Given the description of an element on the screen output the (x, y) to click on. 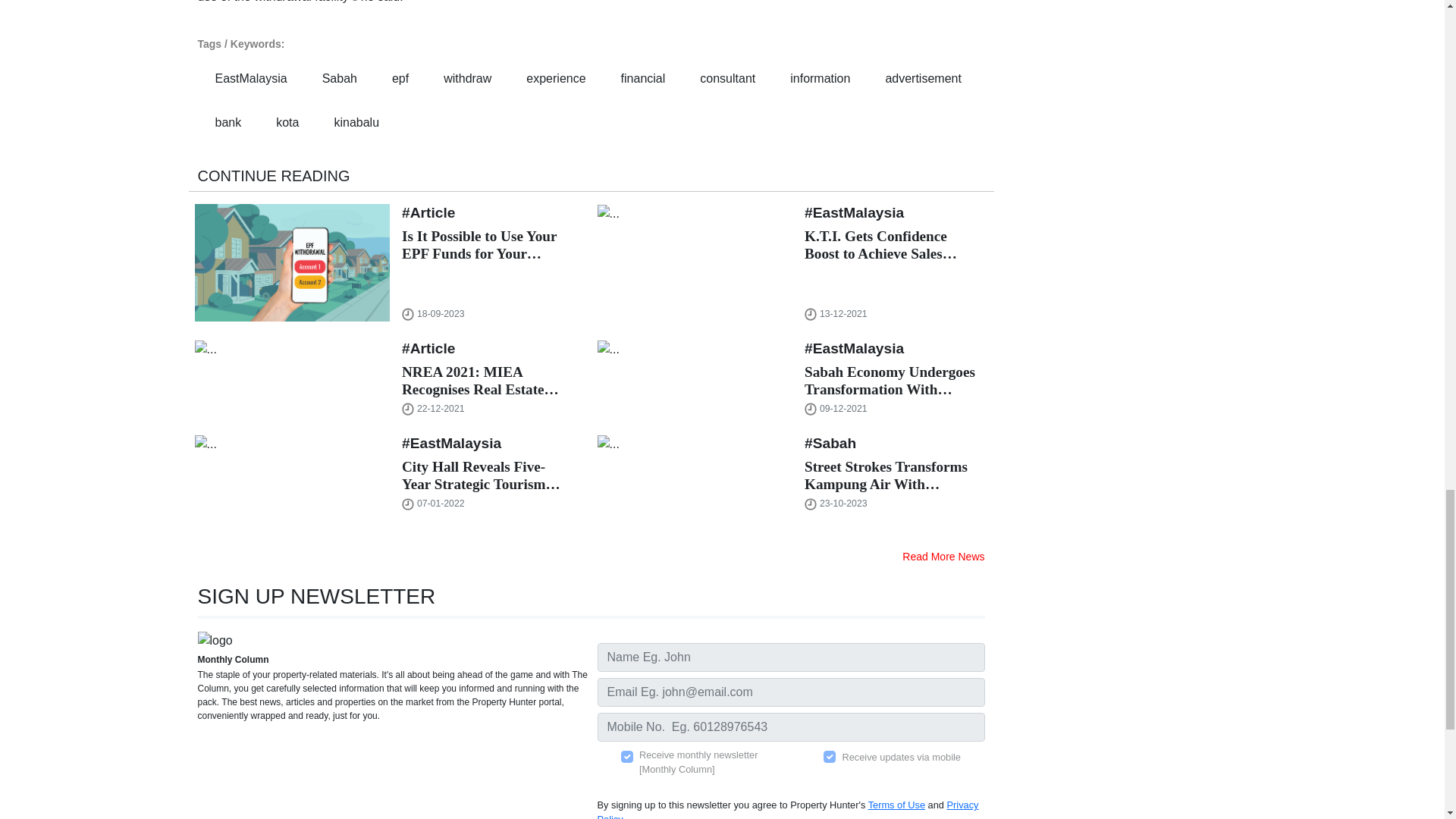
1 (627, 756)
1 (829, 756)
